Given the description of an element on the screen output the (x, y) to click on. 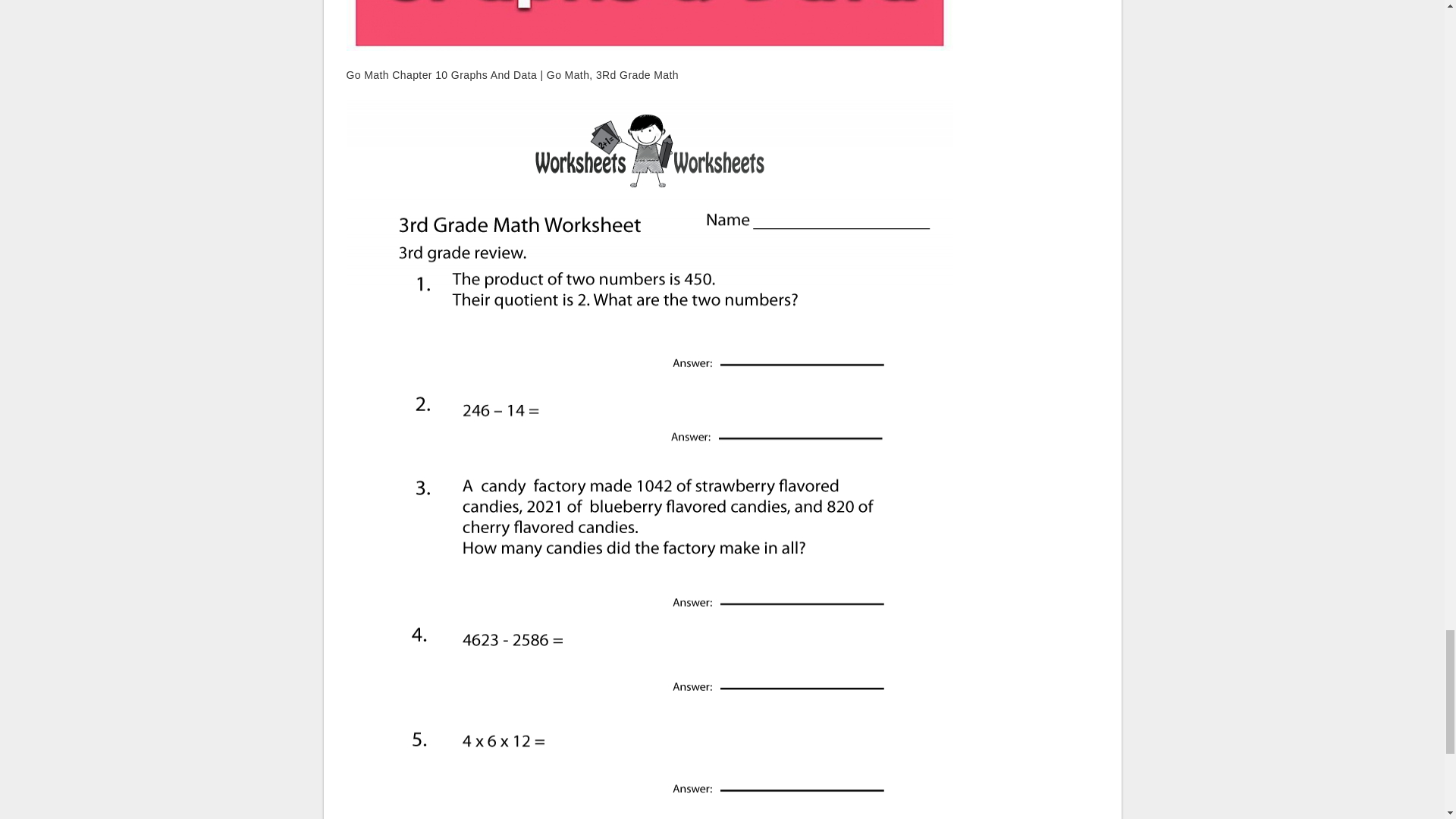
go math chapter 10 graphs and data go math 3rd grade math (649, 25)
